Given the description of an element on the screen output the (x, y) to click on. 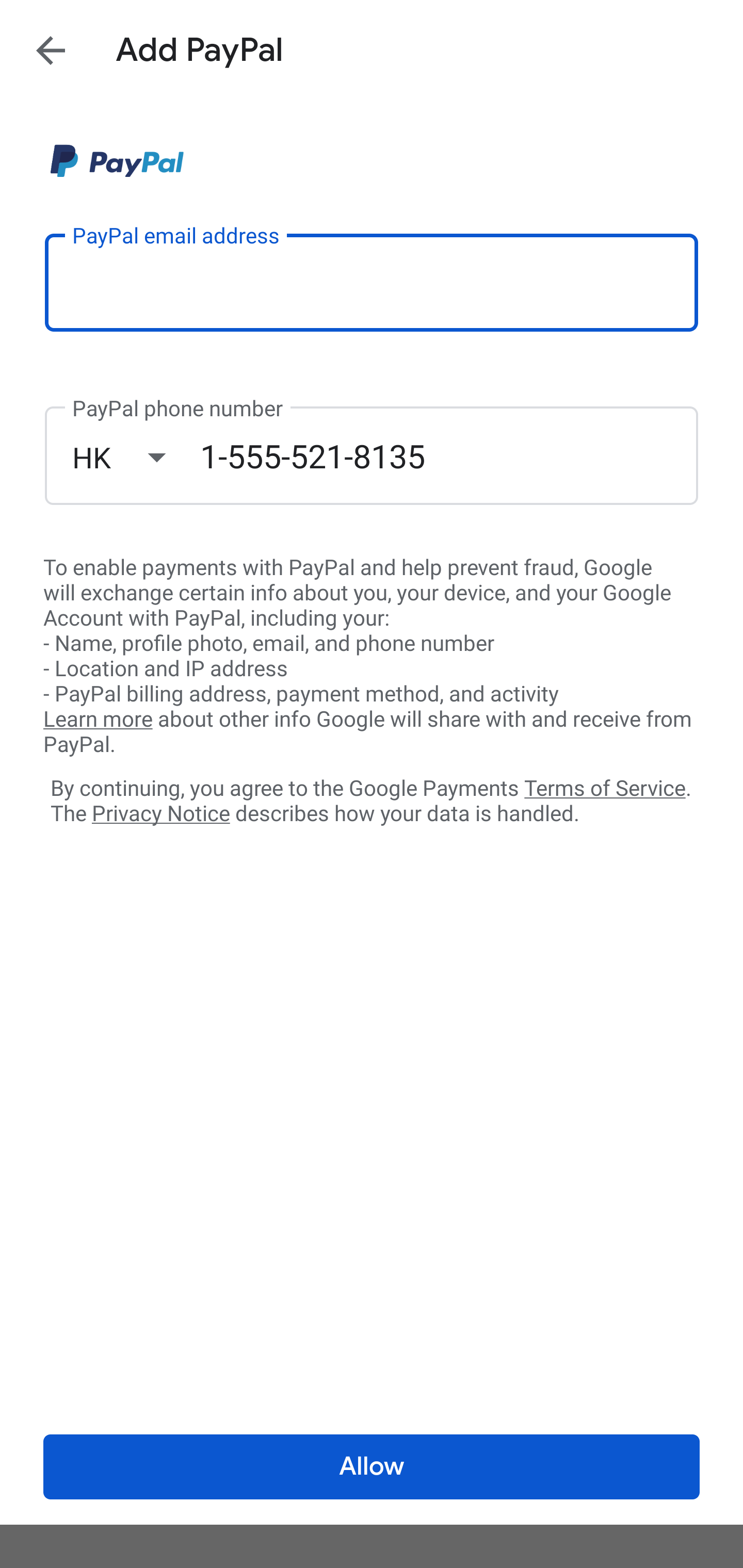
Navigate up (50, 50)
PayPal email address (371, 282)
HK (135, 456)
Learn more (97, 719)
Terms of Service (604, 787)
Privacy Notice (160, 814)
Allow (371, 1466)
